Given the description of an element on the screen output the (x, y) to click on. 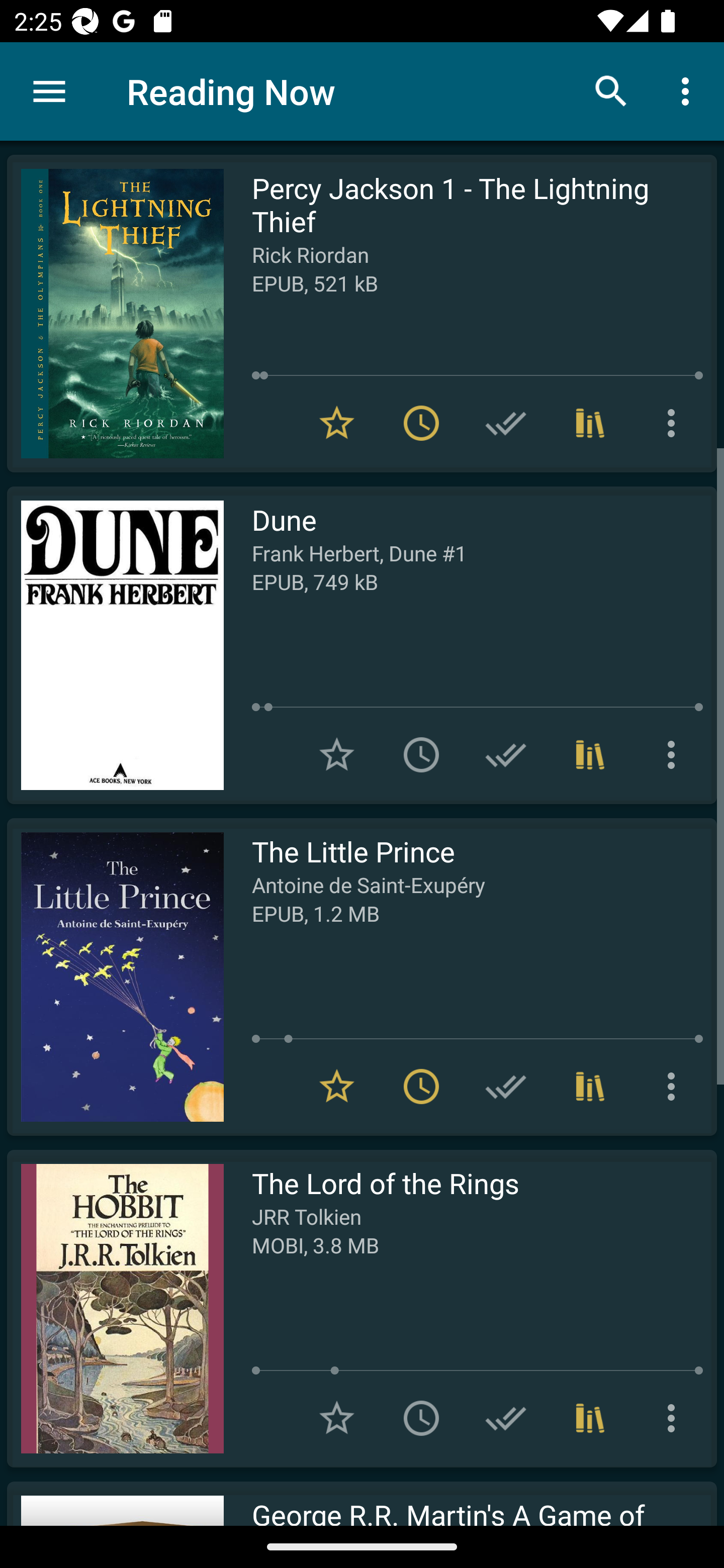
Menu (49, 91)
Search books & documents (611, 90)
More options (688, 90)
Read Percy Jackson 1 - The Lightning Thief (115, 313)
Remove from Favorites (336, 423)
Remove from To read (421, 423)
Add to Have read (505, 423)
Collections (1) (590, 423)
More options (674, 423)
Read Dune (115, 645)
Add to Favorites (336, 753)
Add to To read (421, 753)
Add to Have read (505, 753)
Collections (1) (590, 753)
More options (674, 753)
Read The Little Prince (115, 976)
Remove from Favorites (336, 1086)
Remove from To read (421, 1086)
Add to Have read (505, 1086)
Collections (1) (590, 1086)
More options (674, 1086)
Read The Lord of the Rings (115, 1308)
Add to Favorites (336, 1417)
Add to To read (421, 1417)
Add to Have read (505, 1417)
Collections (1) (590, 1417)
More options (674, 1417)
